Given the description of an element on the screen output the (x, y) to click on. 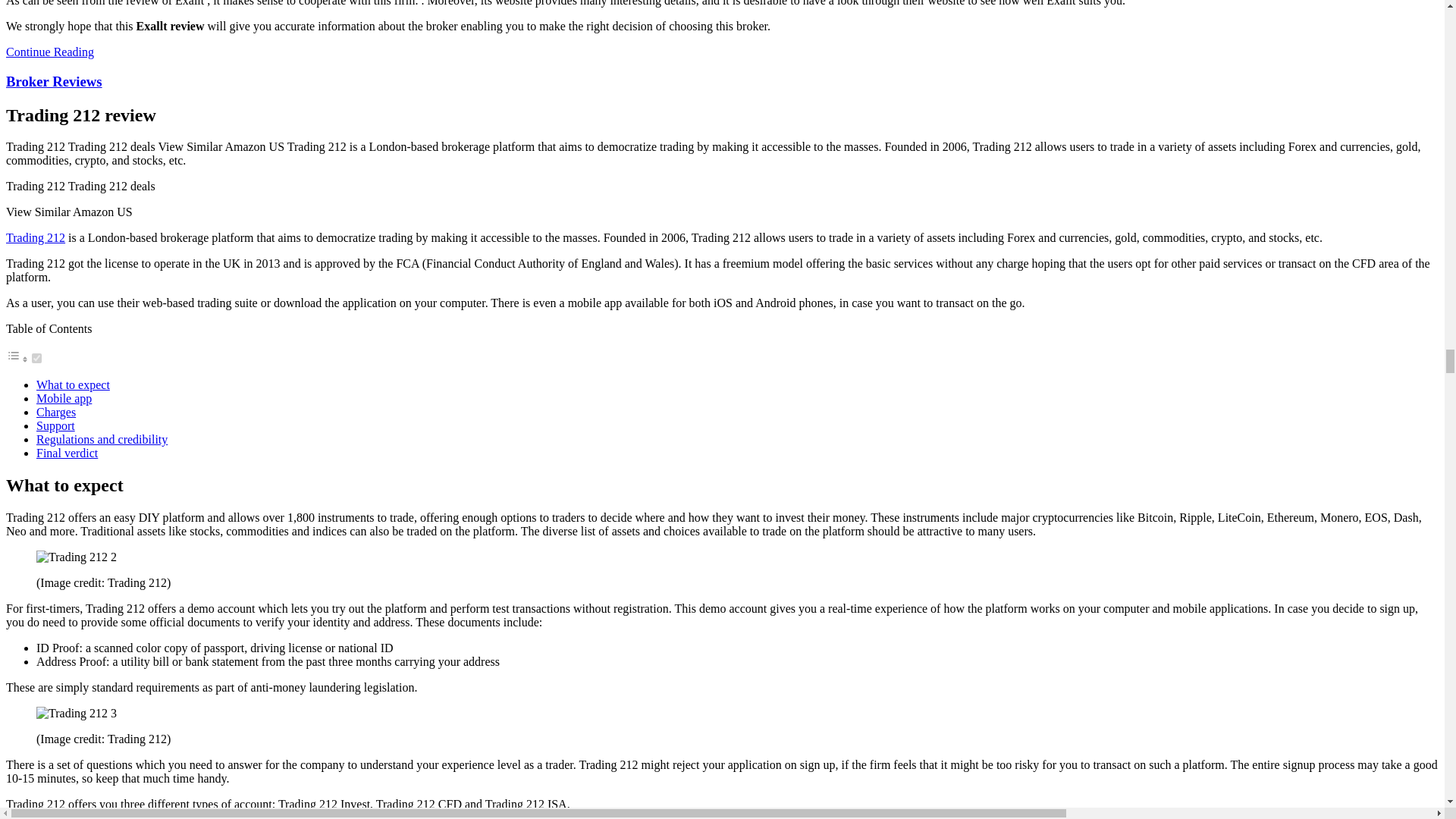
on (37, 357)
